Given the description of an element on the screen output the (x, y) to click on. 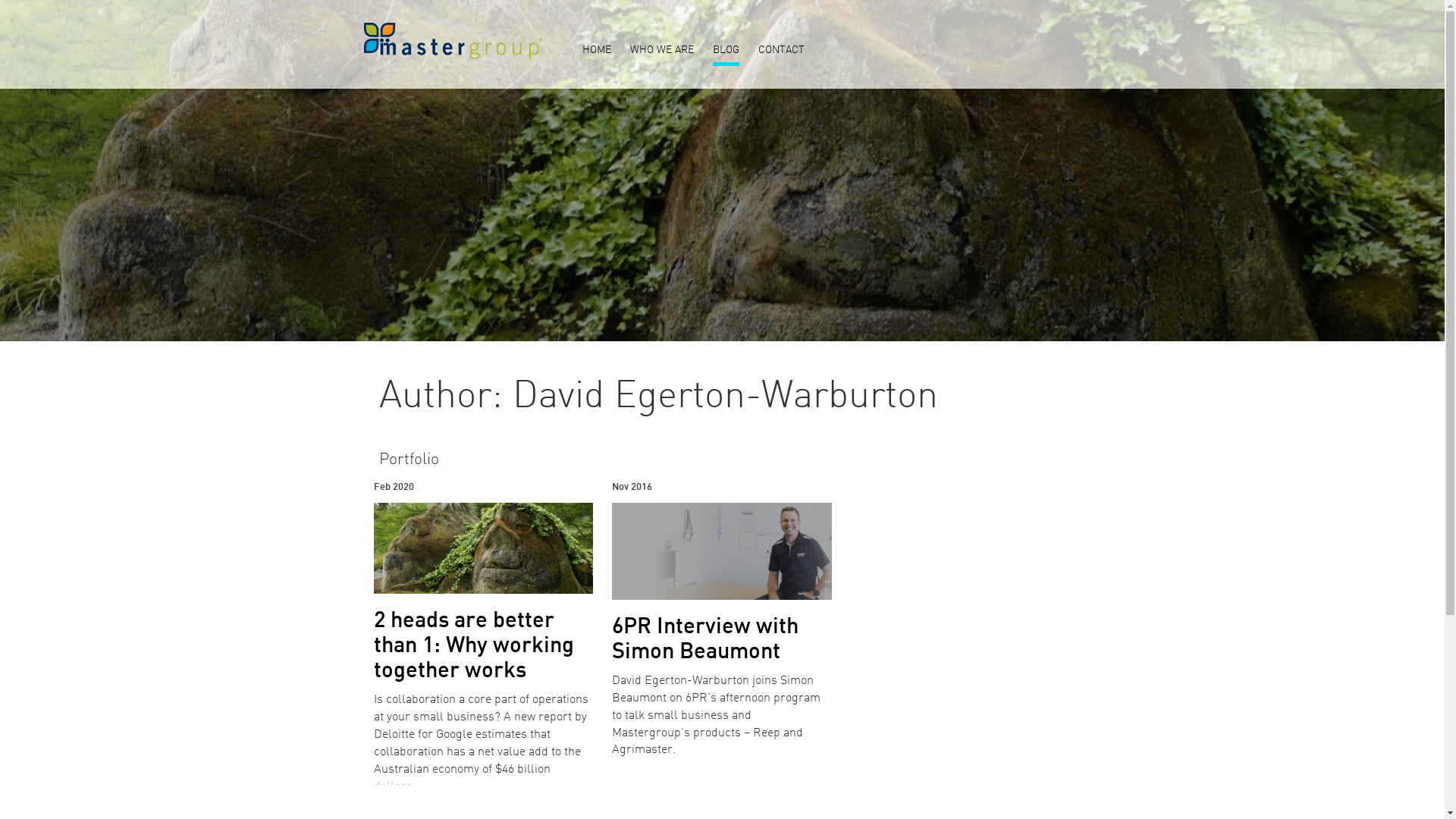
BLOG Element type: text (725, 51)
2 heads are better than 1: Why working together works Element type: text (473, 646)
HOME Element type: text (596, 51)
6PR Interview with Simon Beaumont Element type: text (704, 639)
Skip to content Element type: text (0, 0)
WHO WE ARE Element type: text (661, 51)
CONTACT Element type: text (781, 51)
